Given the description of an element on the screen output the (x, y) to click on. 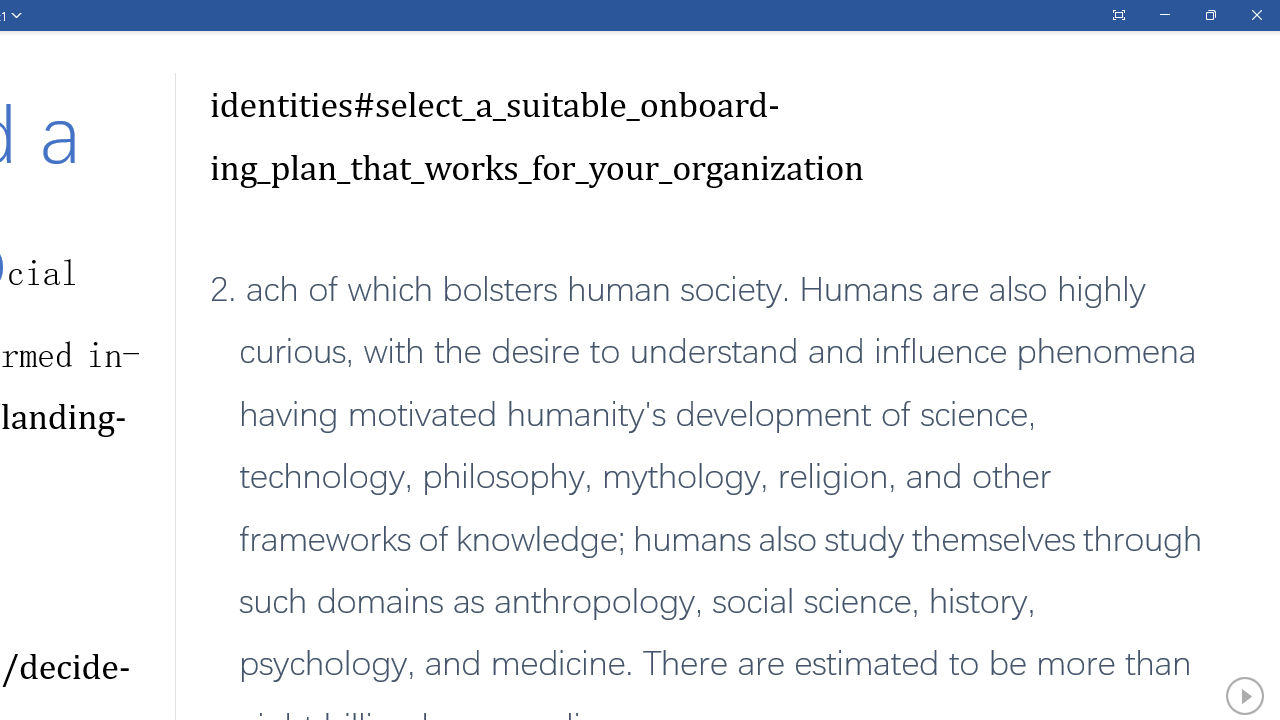
Morphological variation in six dogs (320, 540)
Auto-hide Reading Toolbar (1118, 15)
